Given the description of an element on the screen output the (x, y) to click on. 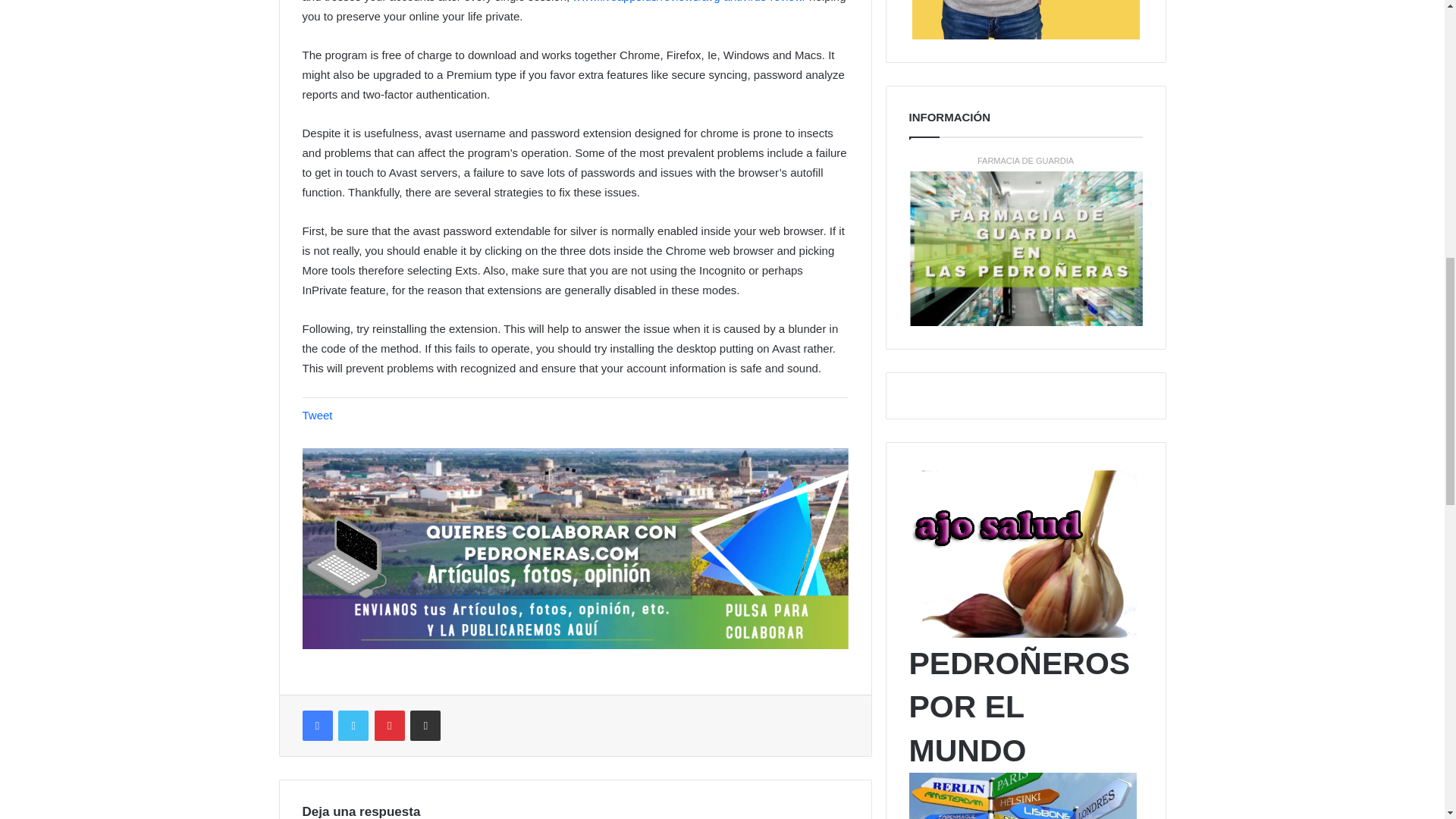
Twitter (352, 725)
Facebook (316, 725)
FARMACIA DE GUARDIA (1025, 160)
Facebook (316, 725)
Pinterest (389, 725)
Twitter (352, 725)
Tweet (316, 414)
Pinterest (389, 725)
